Given the description of an element on the screen output the (x, y) to click on. 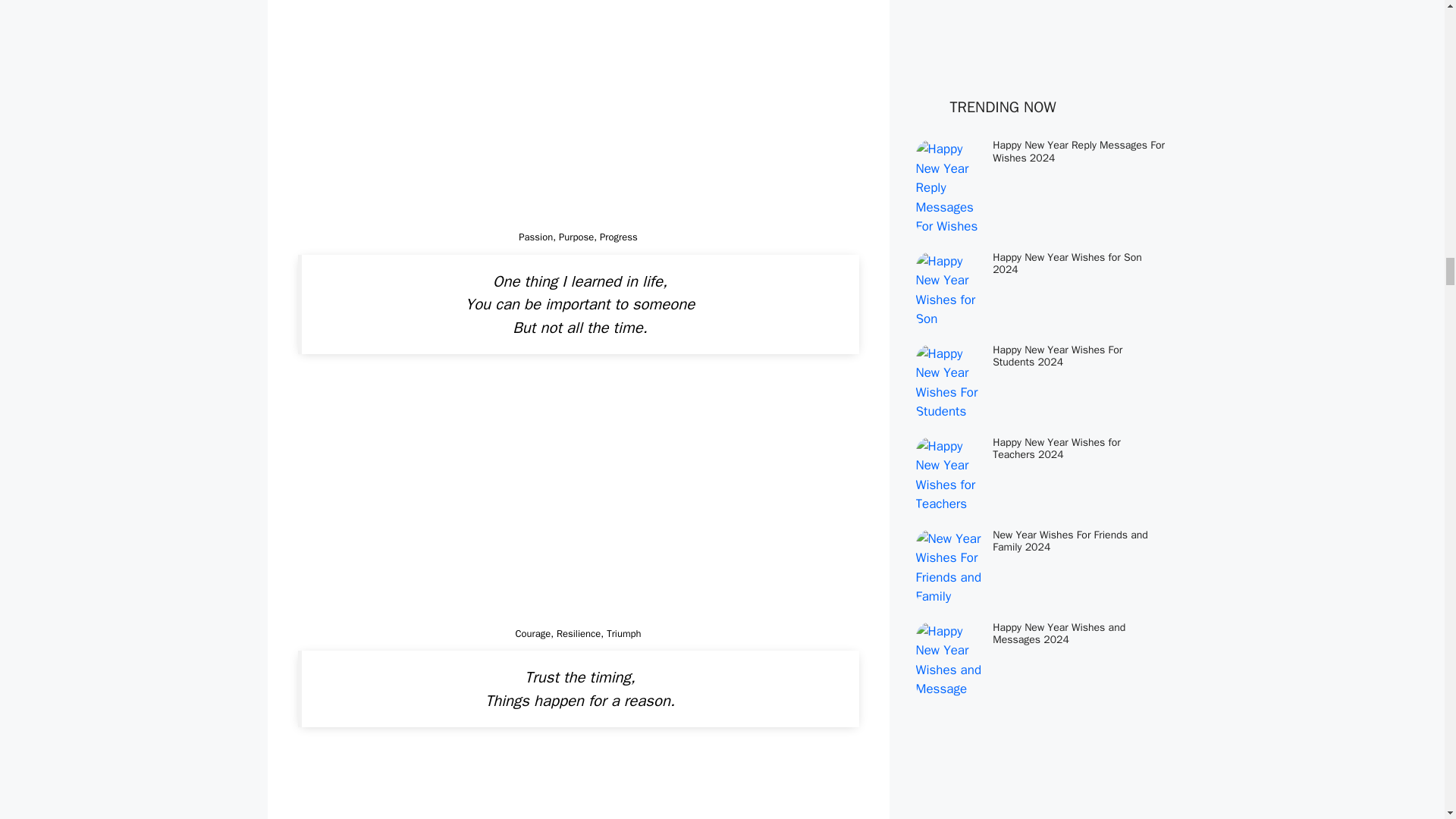
WhatsApp Bio Text with Images (577, 498)
WhatsApp Bio Text with Images (577, 112)
WhatsApp Bio Text with Images (577, 785)
